Given the description of an element on the screen output the (x, y) to click on. 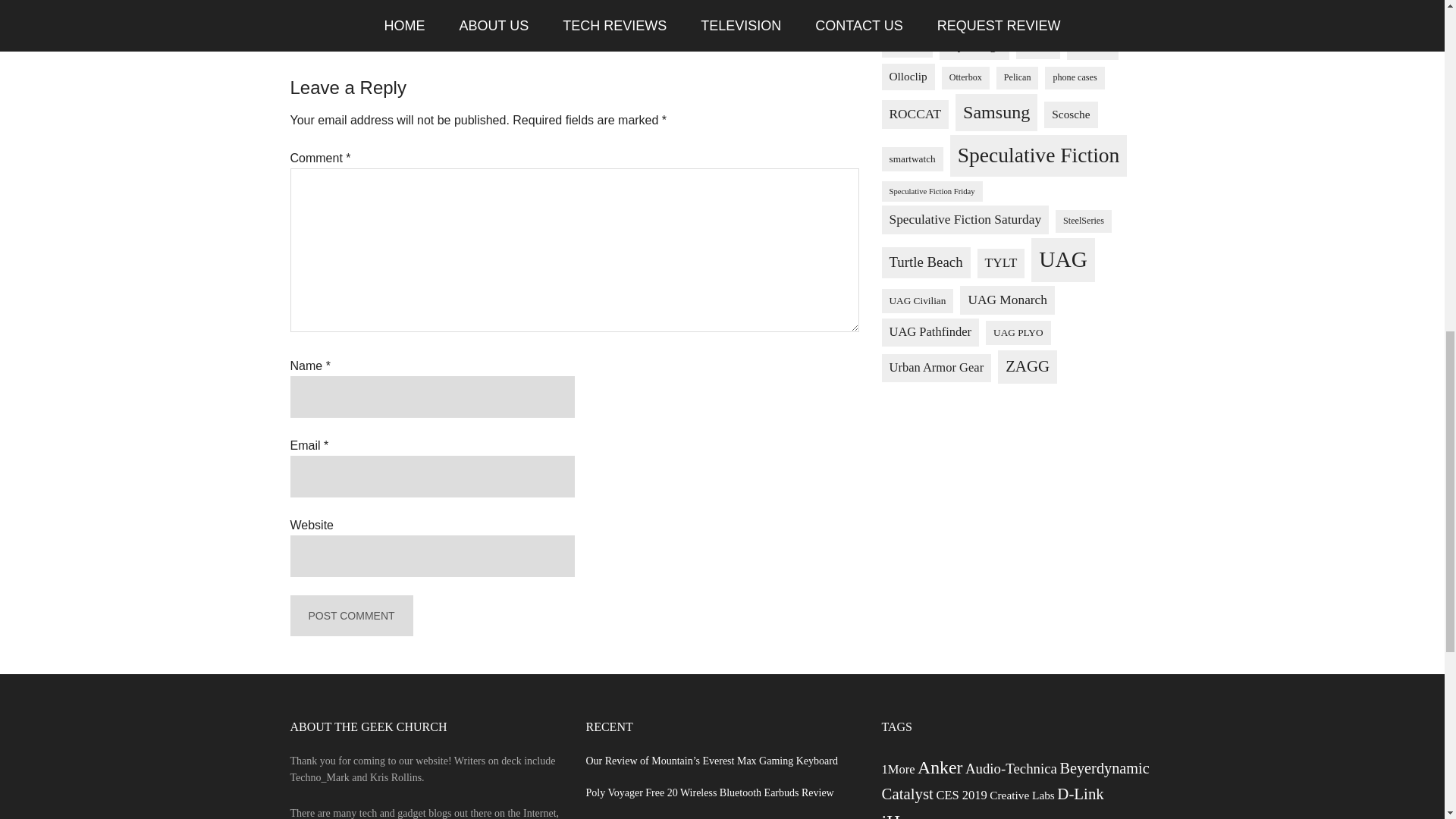
Post Comment (350, 616)
Post Comment (350, 616)
